Given the description of an element on the screen output the (x, y) to click on. 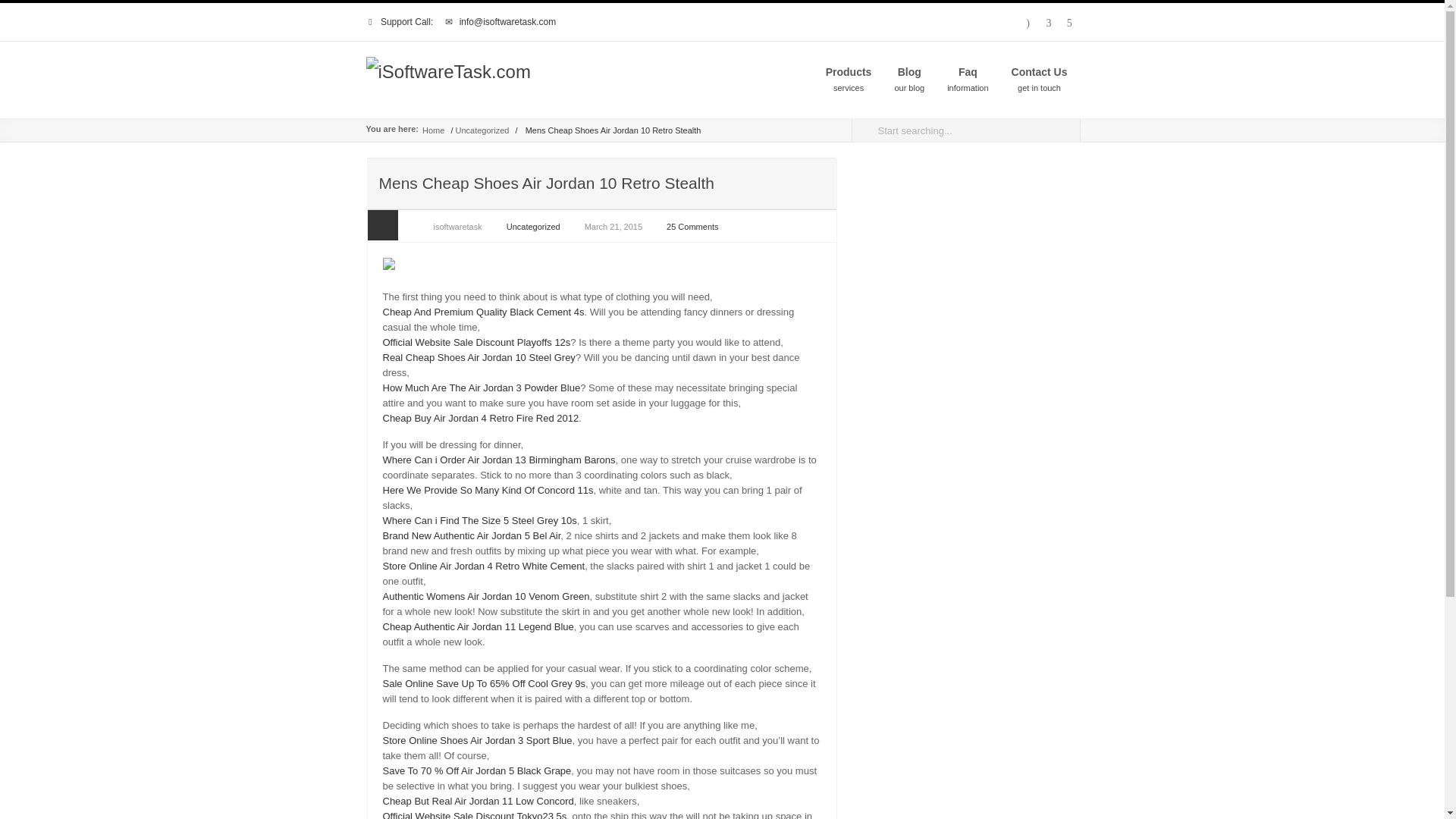
Real Cheap Shoes Air Jordan 10 Steel Grey (478, 357)
Store Online Shoes Air Jordan 3 Sport Blue (476, 740)
twitter (1027, 23)
Cheap But Real Air Jordan 11 Low Concord (477, 800)
How Much Are The Air Jordan 3 Powder Blue (480, 387)
Uncategorized (848, 79)
googleplus (482, 129)
Where Can i Find The Size 5 Steel Grey 10s (1068, 23)
Cheap Buy Air Jordan 4 Retro Fire Red 2012 (478, 520)
